Given the description of an element on the screen output the (x, y) to click on. 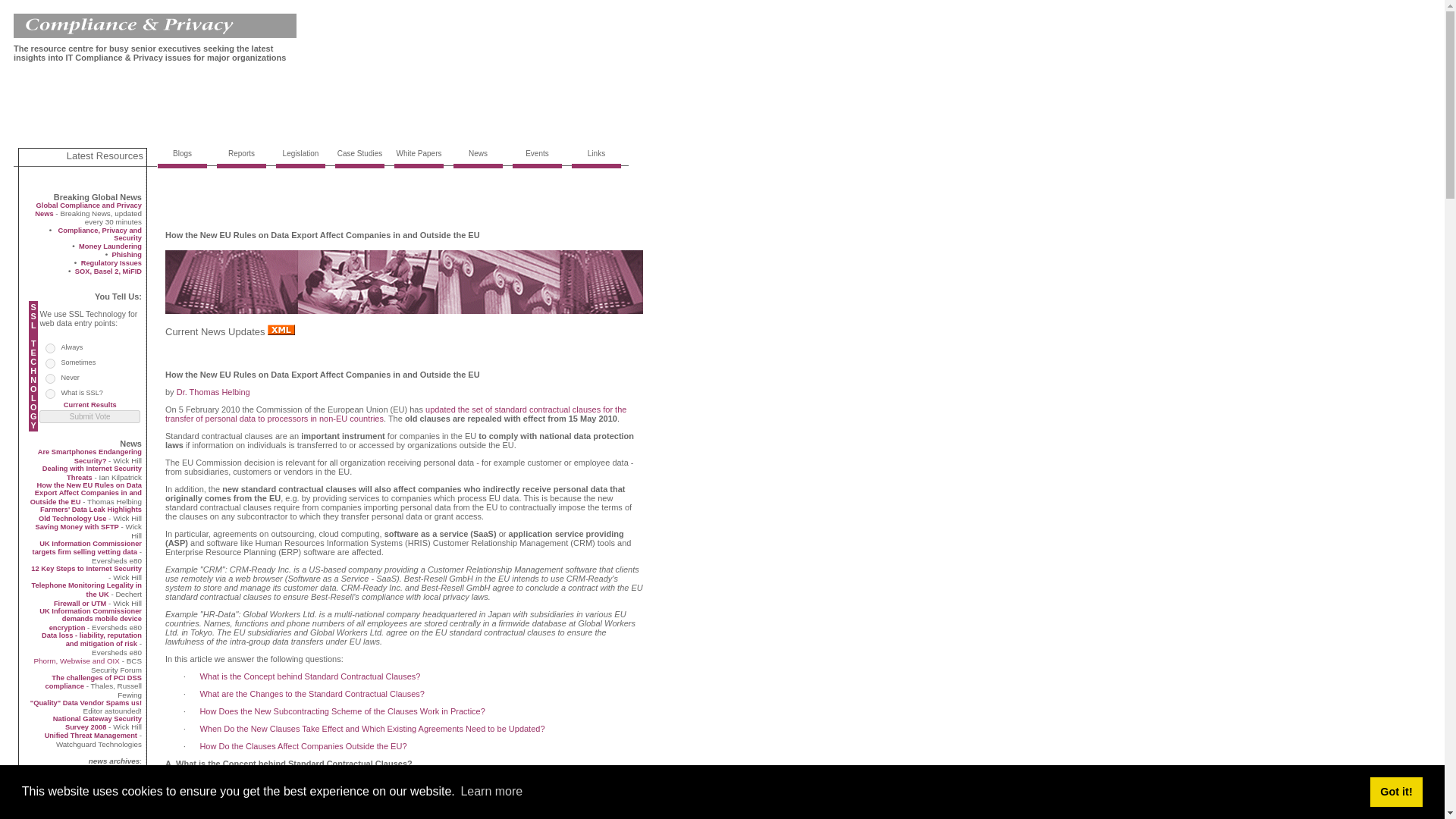
News (241, 166)
Regulatory Issues (111, 262)
Dealing with Internet Security Threats (91, 473)
Money Laundering (109, 246)
Phorm, Webwise and OIX (76, 660)
useful links (596, 166)
1 (50, 363)
12 (123, 786)
Events Calendar (537, 166)
Saving Money with SFTP (75, 526)
RSS XML file - raw XML for syndication (77, 798)
Data loss - liability, reputation and mitigation of risk (91, 639)
Legislation (300, 166)
UK Information Commissioner demands mobile device encryption (90, 619)
White papers (419, 166)
